Given the description of an element on the screen output the (x, y) to click on. 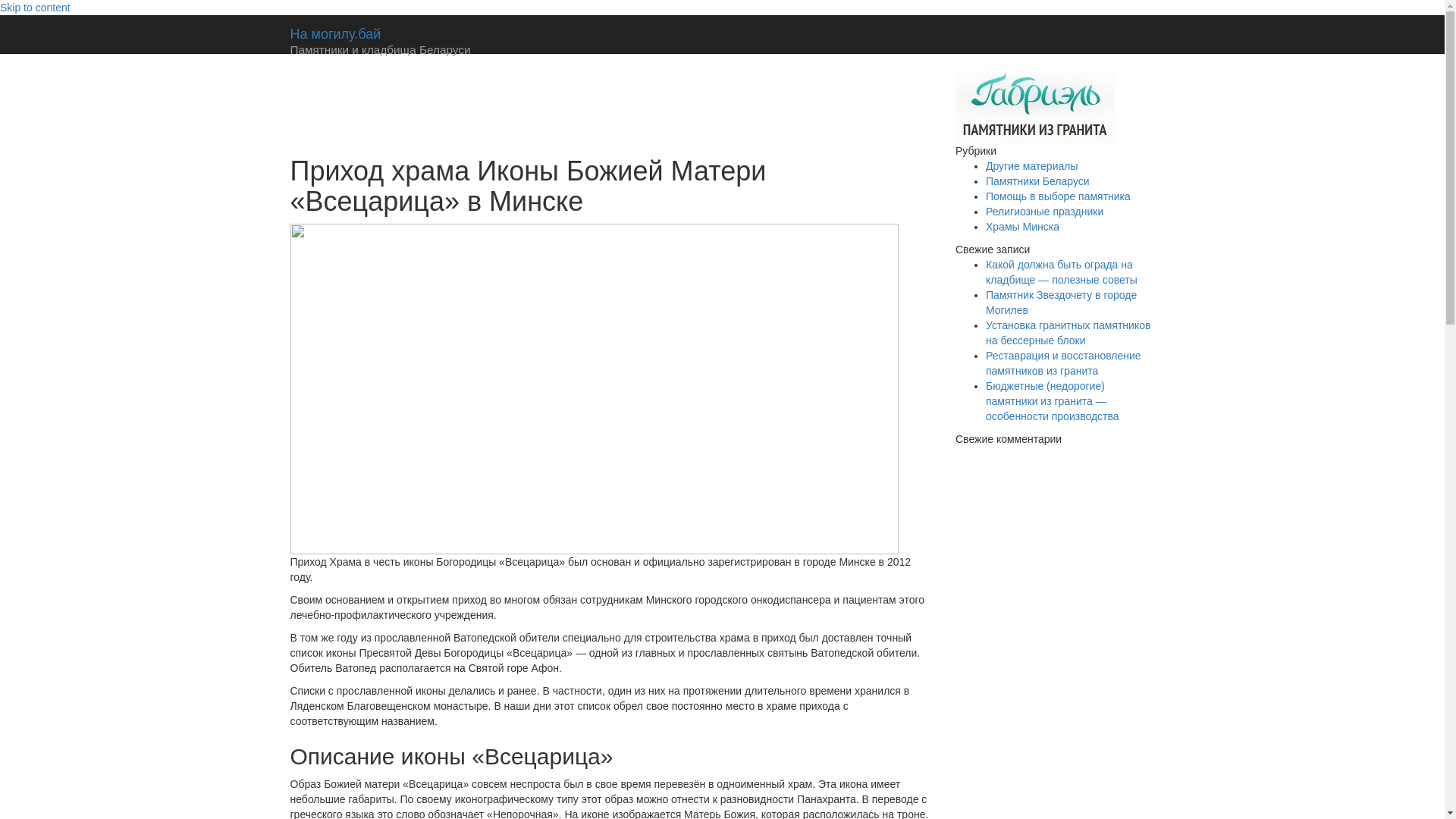
Skip to content Element type: text (35, 7)
Advertisement Element type: hover (565, 103)
